Given the description of an element on the screen output the (x, y) to click on. 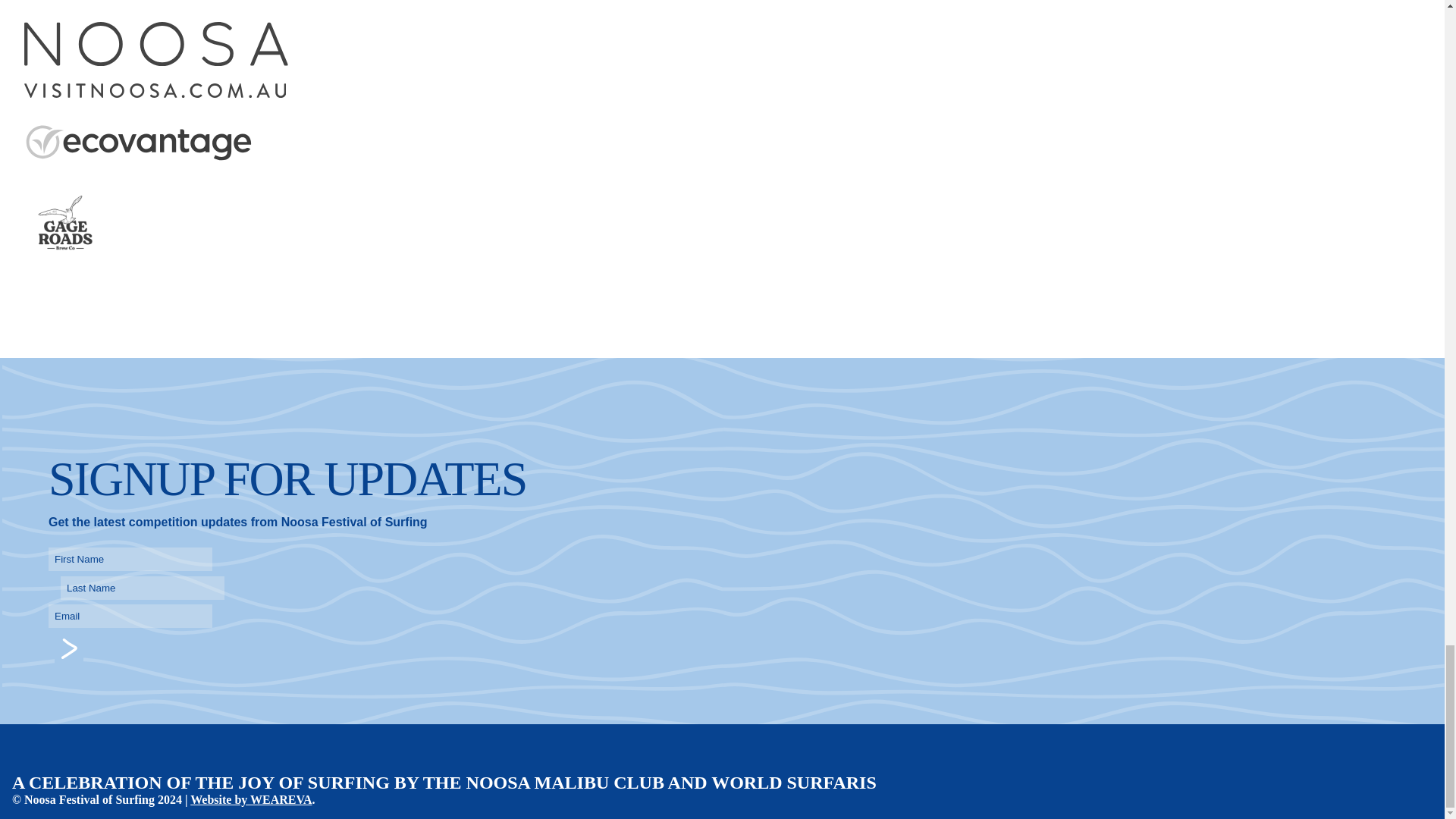
Subscribe (68, 648)
Website by WEAREVA (250, 799)
Subscribe (68, 648)
